Given the description of an element on the screen output the (x, y) to click on. 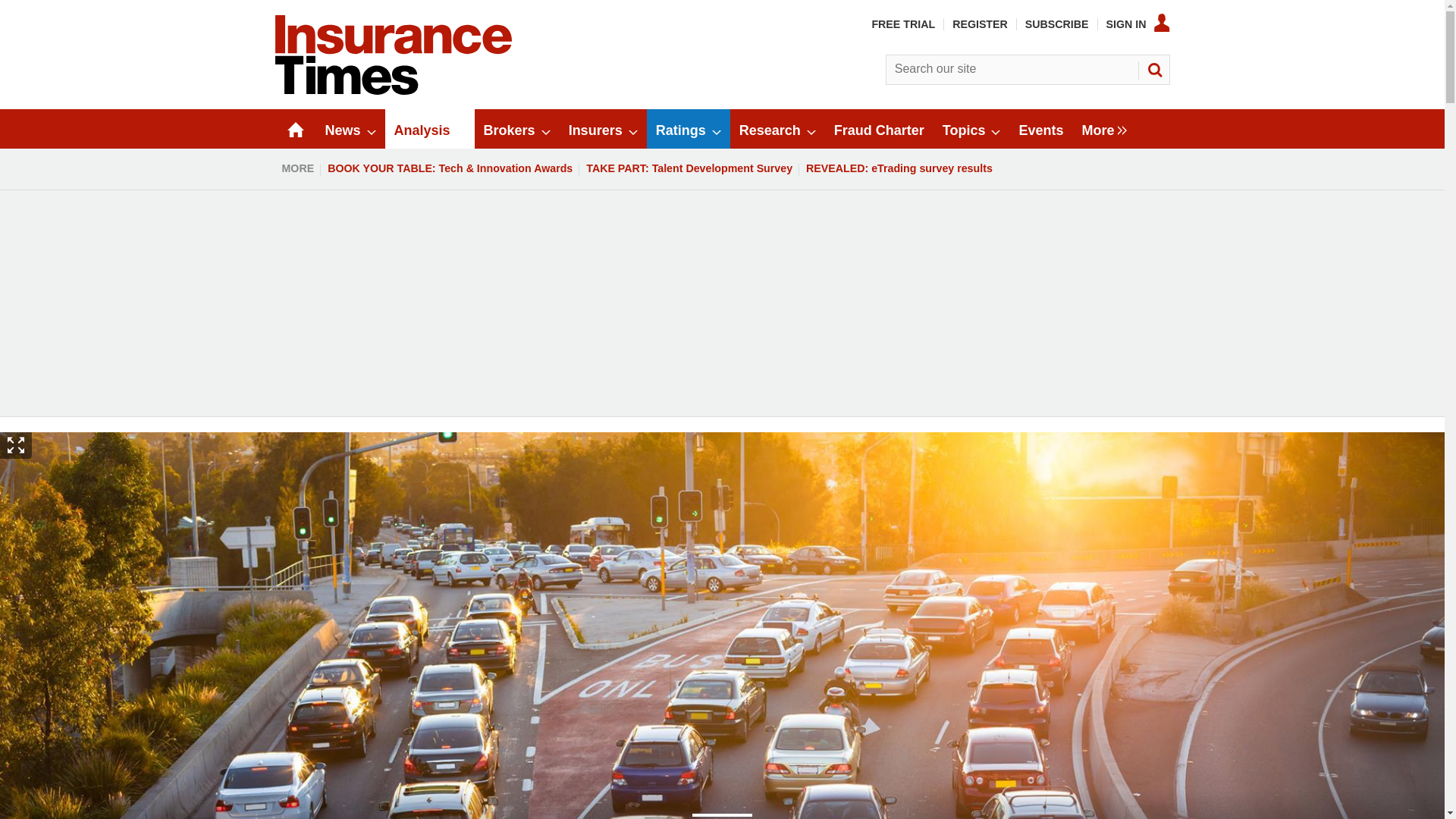
SIGN IN (1138, 24)
REGISTER (979, 24)
Insert Logo text (393, 90)
REVEALED: eTrading survey results (898, 168)
TAKE PART: Talent Development Survey (689, 168)
SUBSCRIBE (1057, 24)
SEARCH (1153, 69)
FREE TRIAL (902, 24)
